Given the description of an element on the screen output the (x, y) to click on. 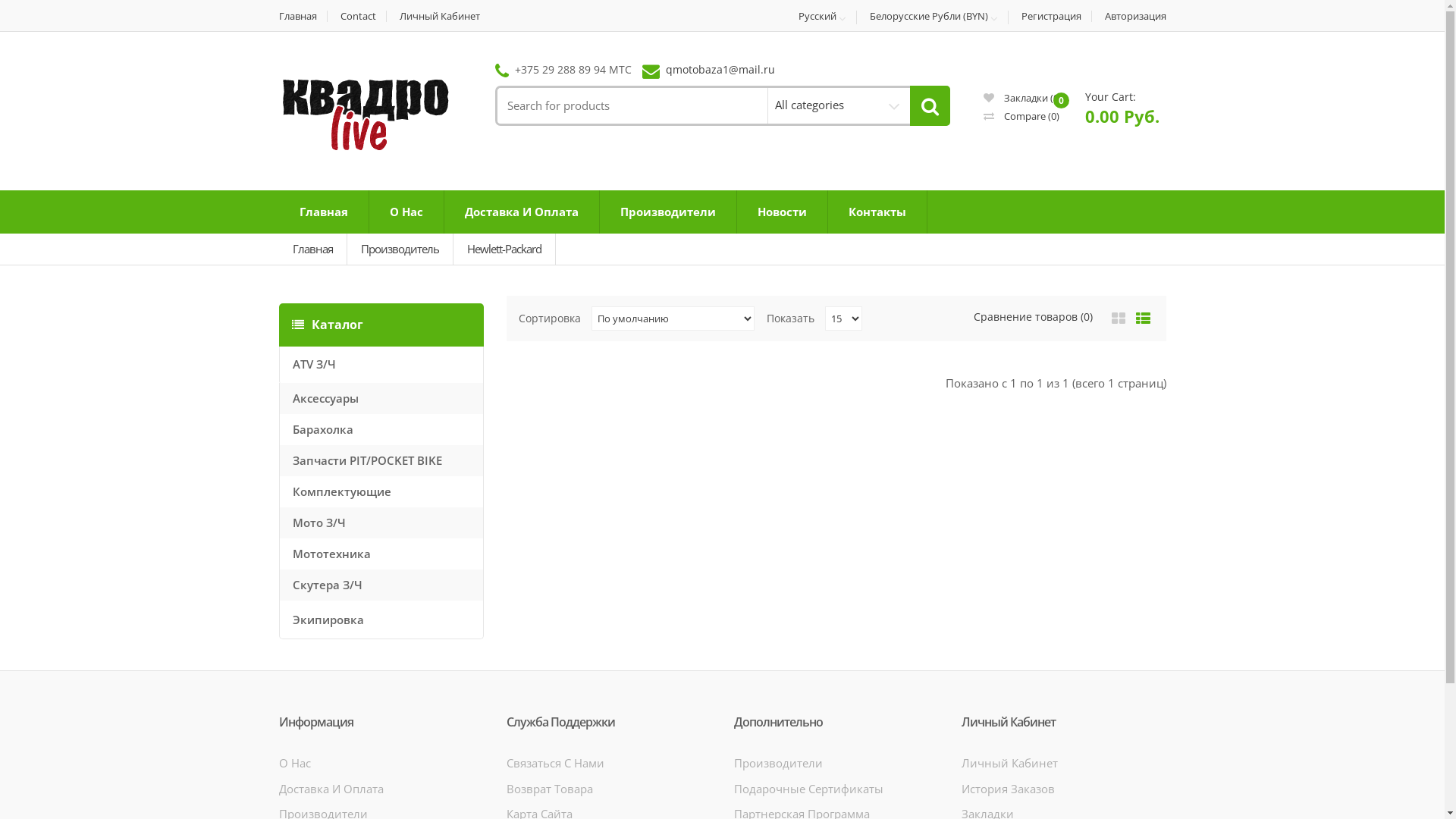
Grid Element type: hover (1117, 318)
Compare (0) Element type: text (1021, 115)
qmotobaza1@mail.ru Element type: text (720, 69)
Contact Element type: text (358, 15)
Hewlett-Packard Element type: text (504, 248)
List Element type: hover (1142, 318)
